Given the description of an element on the screen output the (x, y) to click on. 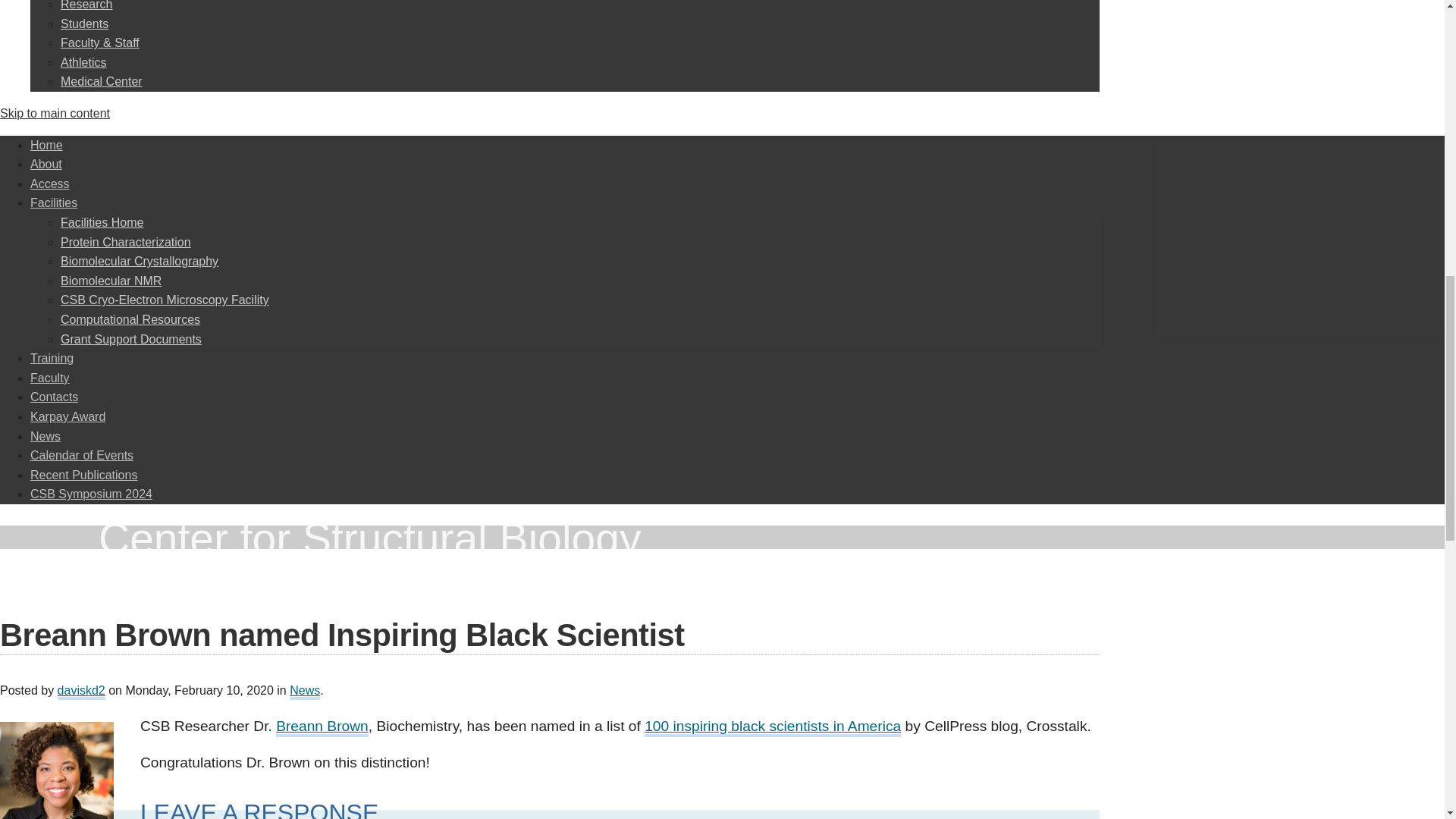
About (46, 164)
Research (86, 5)
Access (49, 183)
Home (46, 144)
Protein Characterization (125, 241)
Posts by daviskd2 (81, 691)
Facilities Home (101, 222)
Medical Center (101, 81)
Skip to main content (55, 113)
Athletics (83, 62)
Facilities (53, 202)
Students (84, 23)
